Given the description of an element on the screen output the (x, y) to click on. 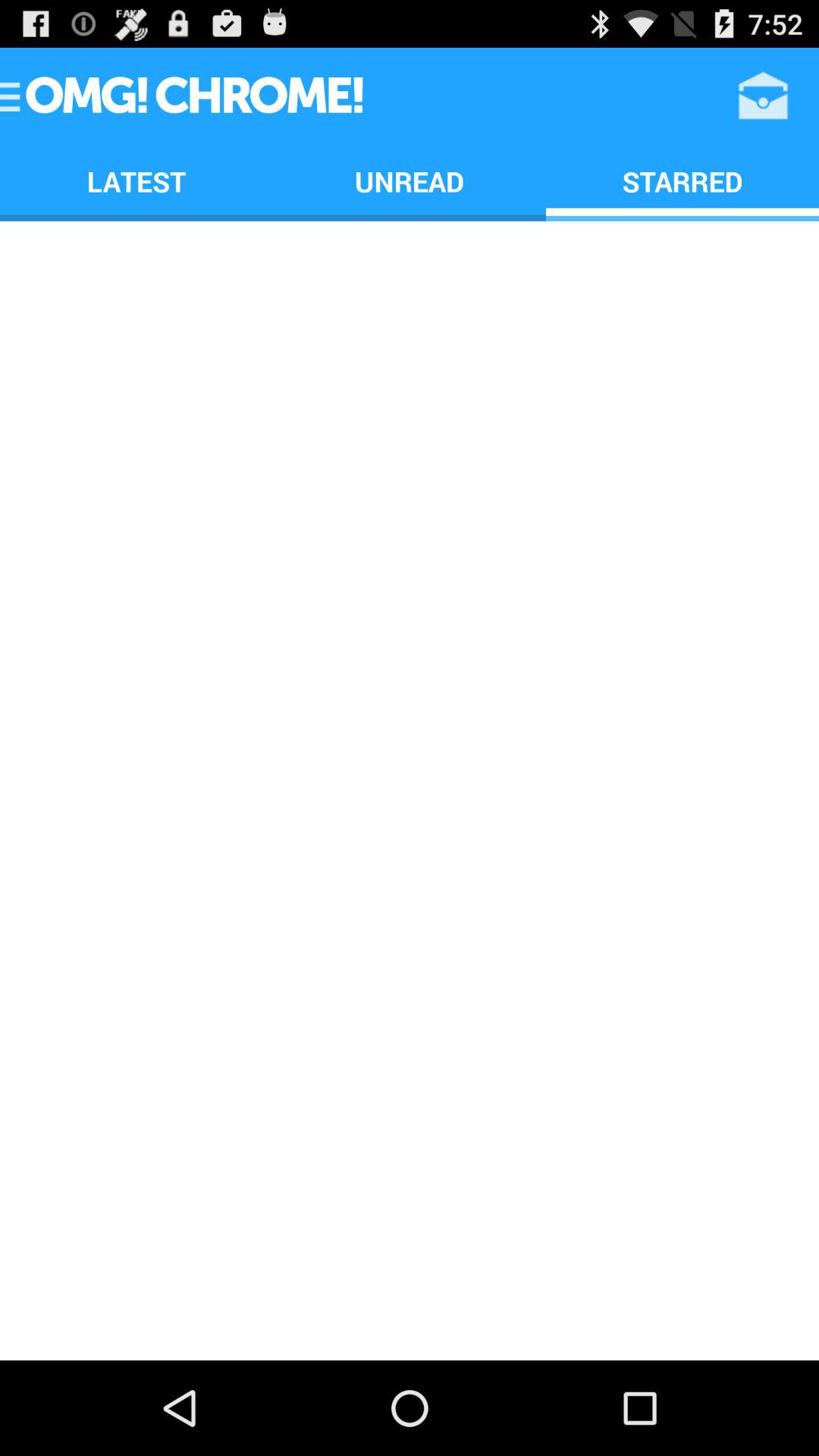
jump to the latest app (136, 181)
